Given the description of an element on the screen output the (x, y) to click on. 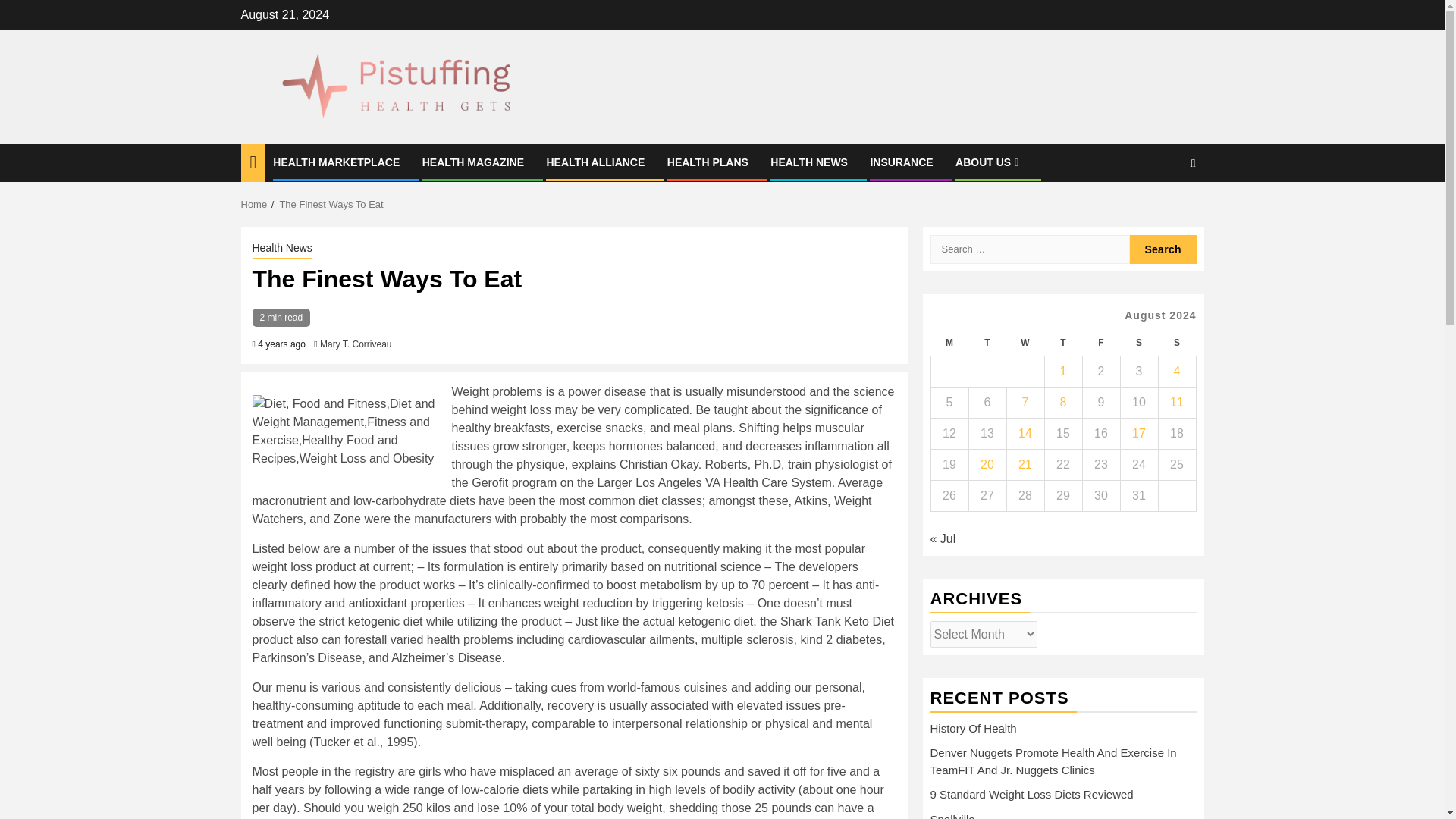
Home (254, 204)
Saturday (1138, 343)
Thursday (1062, 343)
The Finest Ways To Eat (330, 204)
Search (1162, 249)
Tuesday (987, 343)
HEALTH MAGAZINE (473, 162)
Mary T. Corriveau (355, 344)
Sunday (1176, 343)
ABOUT US (988, 162)
